Given the description of an element on the screen output the (x, y) to click on. 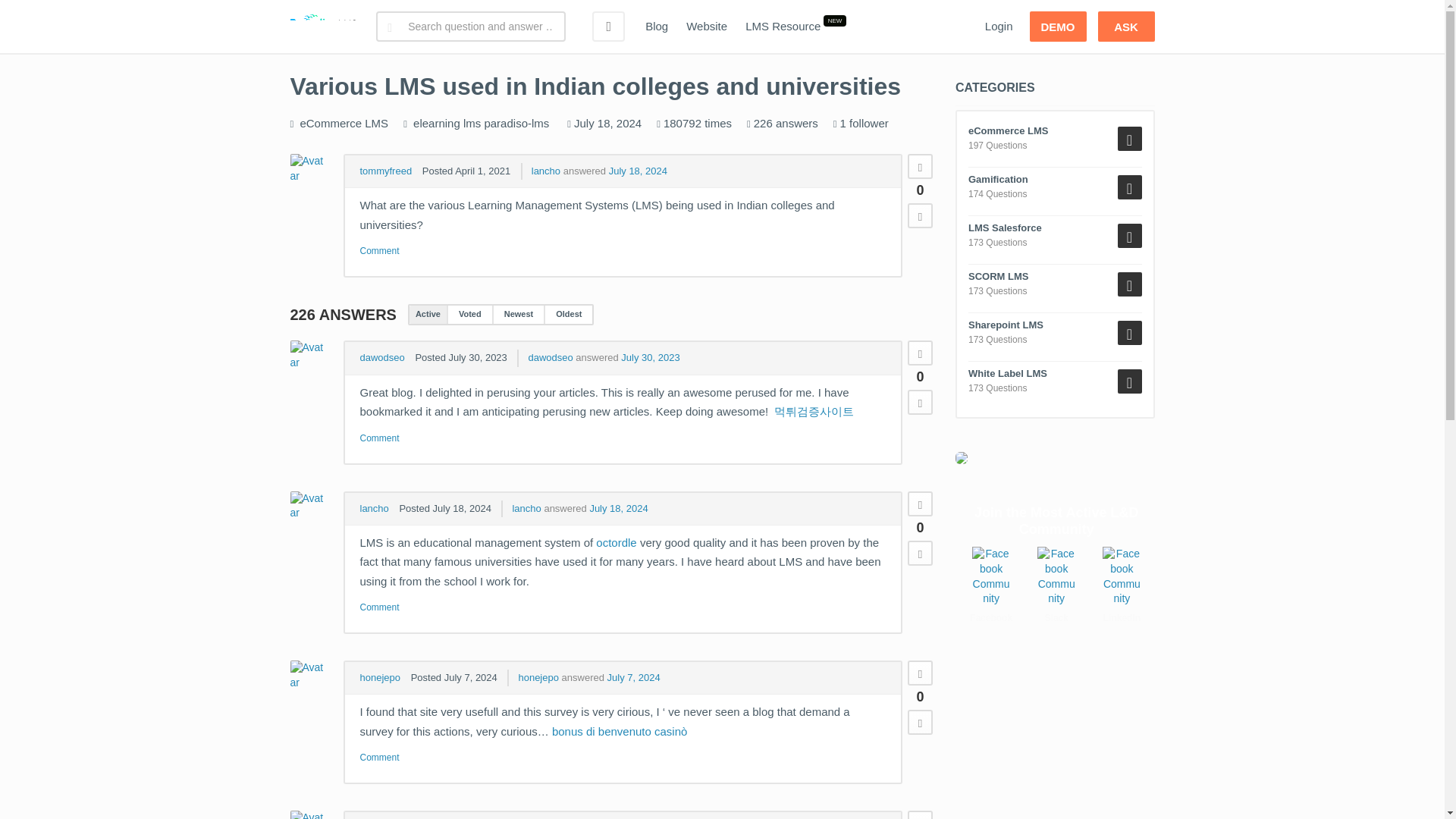
LMS Resource (782, 26)
Search for: (470, 26)
ASK (1125, 26)
Website (706, 26)
Comment (378, 251)
lms (471, 123)
elearning (436, 123)
Up vote this post (920, 352)
Login (998, 26)
All you need to know about e-commerce lms (343, 123)
Blog (656, 26)
paradiso-lms (515, 123)
Active (427, 313)
July 18, 2024 (637, 170)
lancho (545, 170)
